Given the description of an element on the screen output the (x, y) to click on. 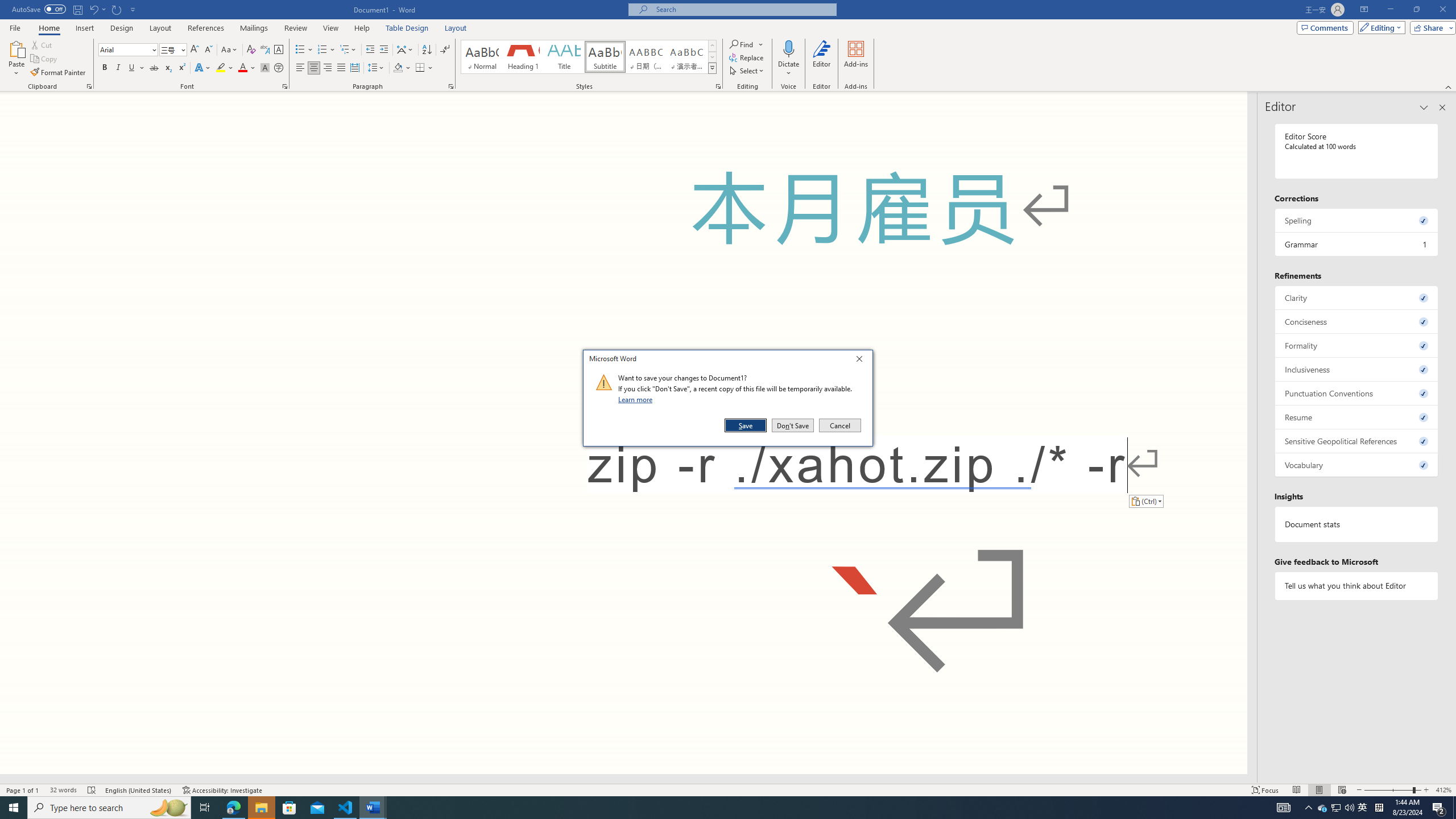
Running applications (700, 807)
Spelling, 0 issues. Press space or enter to review items. (1356, 219)
Learn more (636, 399)
